Given the description of an element on the screen output the (x, y) to click on. 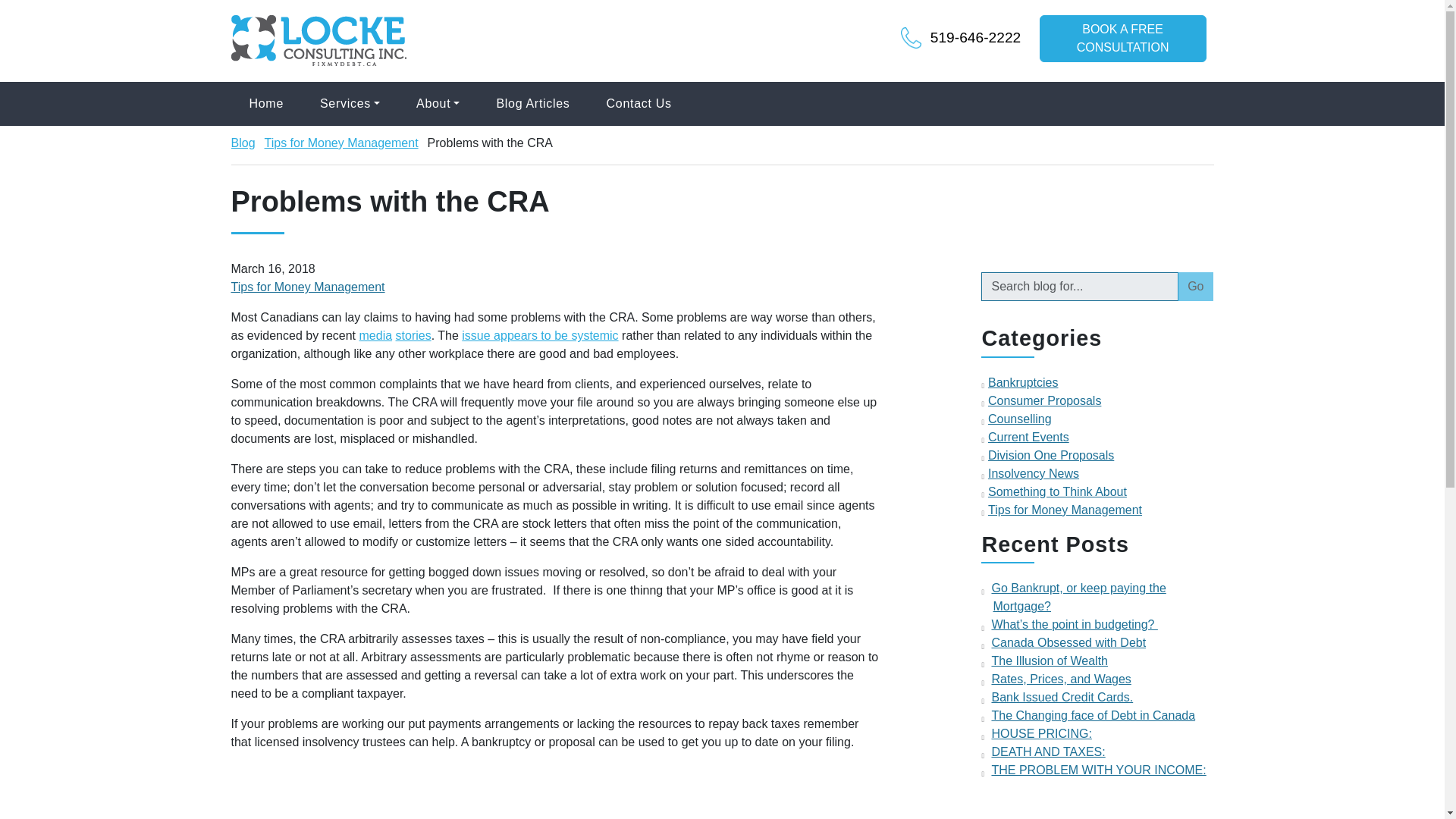
Current Events (1028, 436)
Go Bankrupt, or keep paying the Mortgage? (1078, 596)
About (437, 103)
Go (1194, 286)
issue appears to be systemic (539, 335)
Bankruptcies (1023, 382)
media (376, 335)
Insolvency News (1033, 472)
Problems with the CRA (490, 142)
Something to Think About (1057, 491)
